Given the description of an element on the screen output the (x, y) to click on. 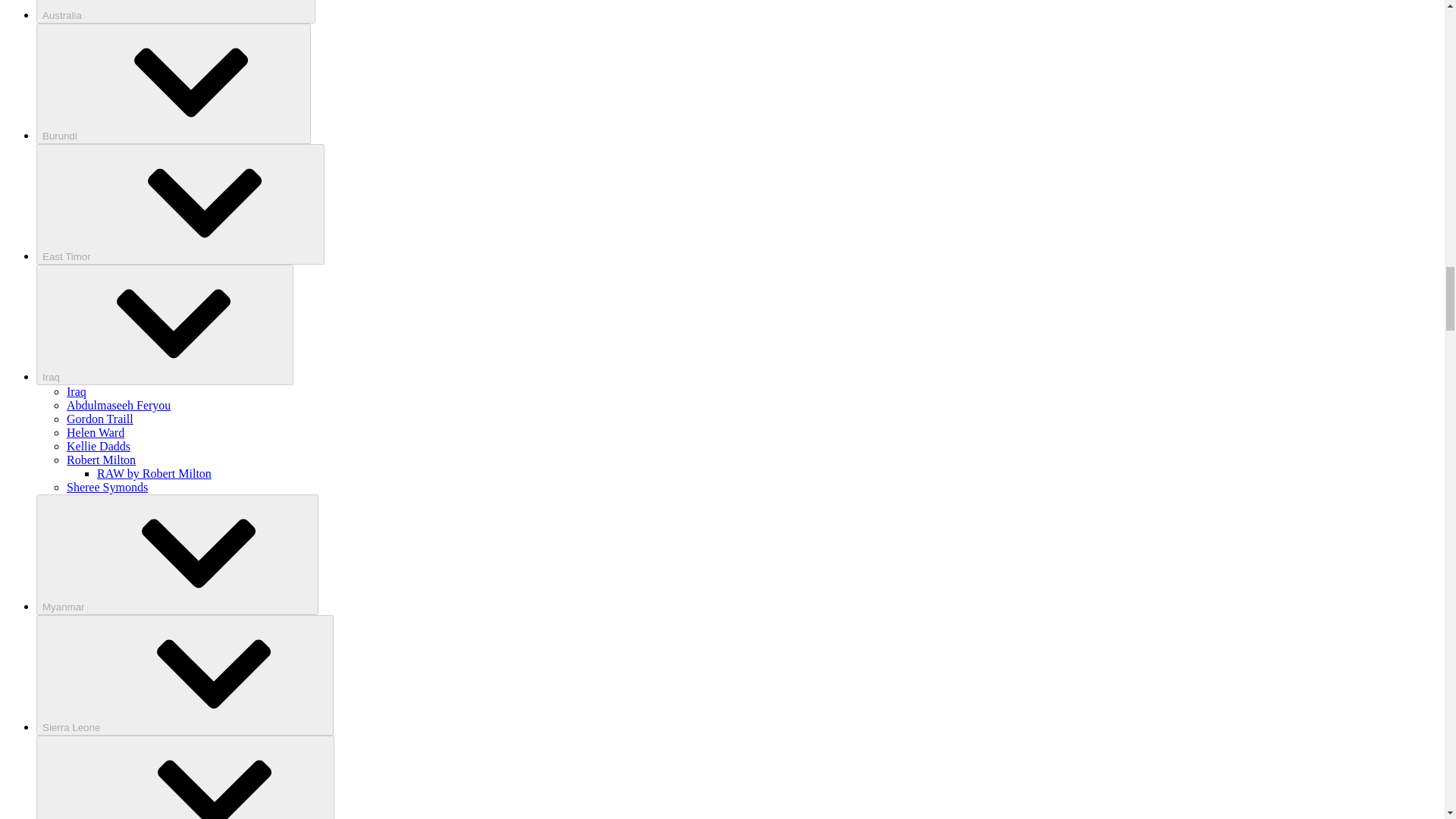
Helen Ward (94, 431)
Gordon Traill (99, 418)
East Timor (180, 204)
Australia (175, 11)
Kellie Dadds (98, 445)
Iraq (165, 324)
Iraq (75, 391)
Abdulmaseeh Feryou (118, 404)
Burundi (173, 83)
